Given the description of an element on the screen output the (x, y) to click on. 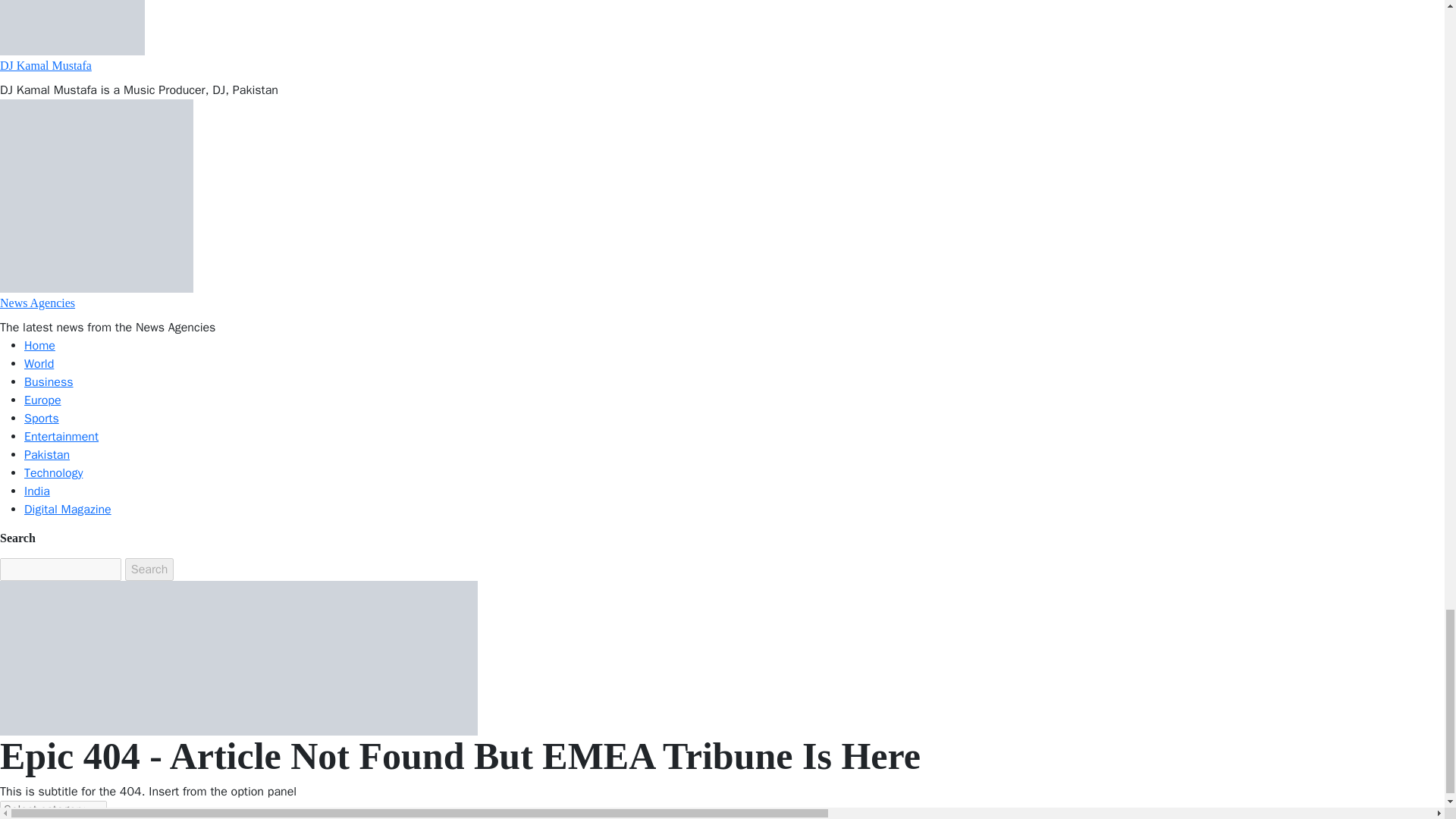
News Agencies (37, 302)
Business (49, 381)
Digital Magazine (68, 509)
Search (149, 568)
Entertainment (61, 436)
India (36, 491)
Technology (53, 473)
Europe (42, 400)
Search (149, 568)
World (38, 363)
Sports (41, 418)
Home (39, 345)
DJ Kamal Mustafa (45, 65)
Pakistan (46, 454)
